Given the description of an element on the screen output the (x, y) to click on. 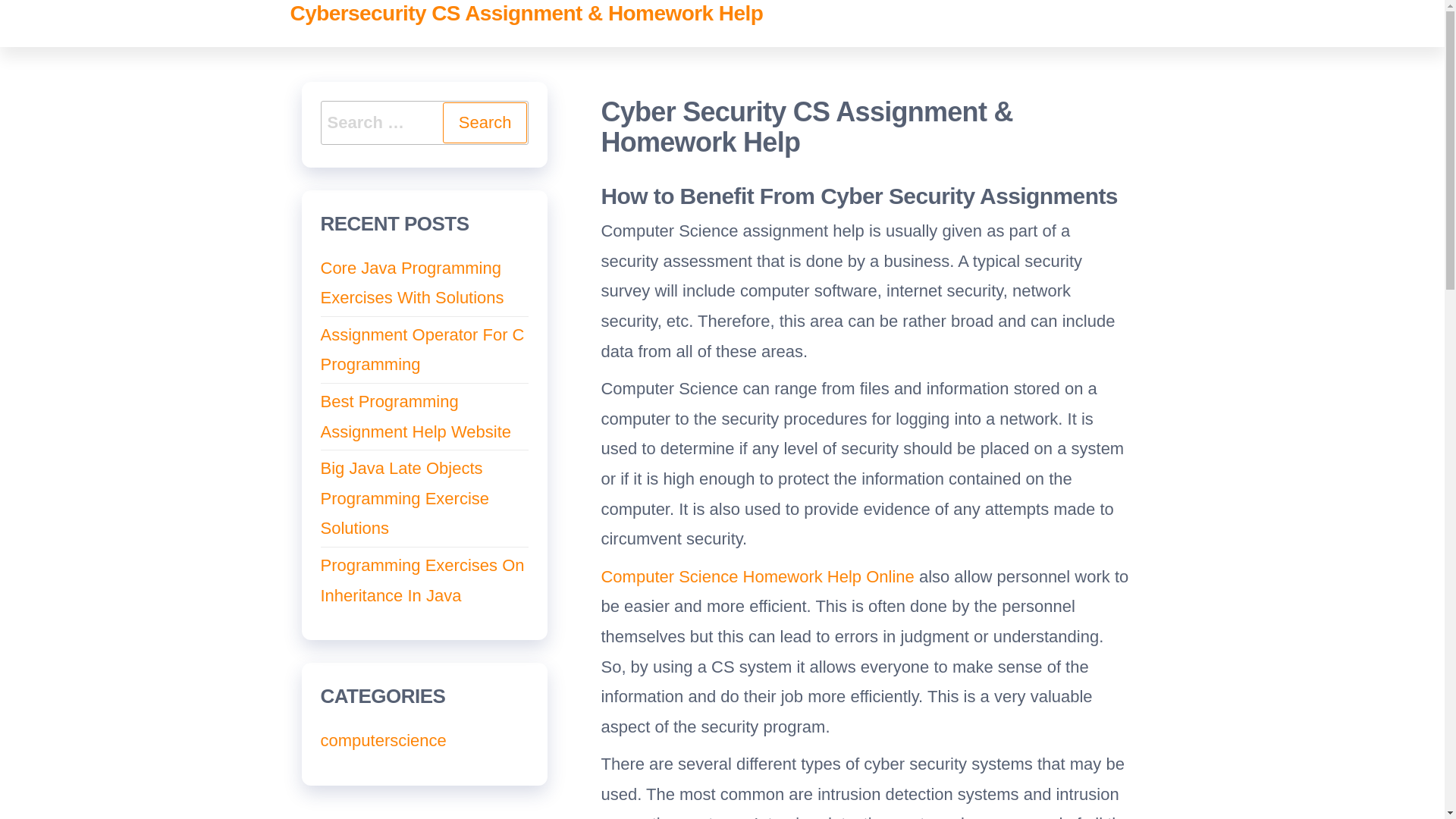
Search (484, 122)
Assignment Operator For C Programming (422, 349)
Best Programming Assignment Help Website (415, 416)
Big Java Late Objects Programming Exercise Solutions (404, 497)
Search (484, 122)
Programming Exercises On Inheritance In Java (422, 580)
Search (484, 122)
computerscience (382, 740)
Computer Science Homework Help Online (756, 576)
Core Java Programming Exercises With Solutions (411, 282)
